Given the description of an element on the screen output the (x, y) to click on. 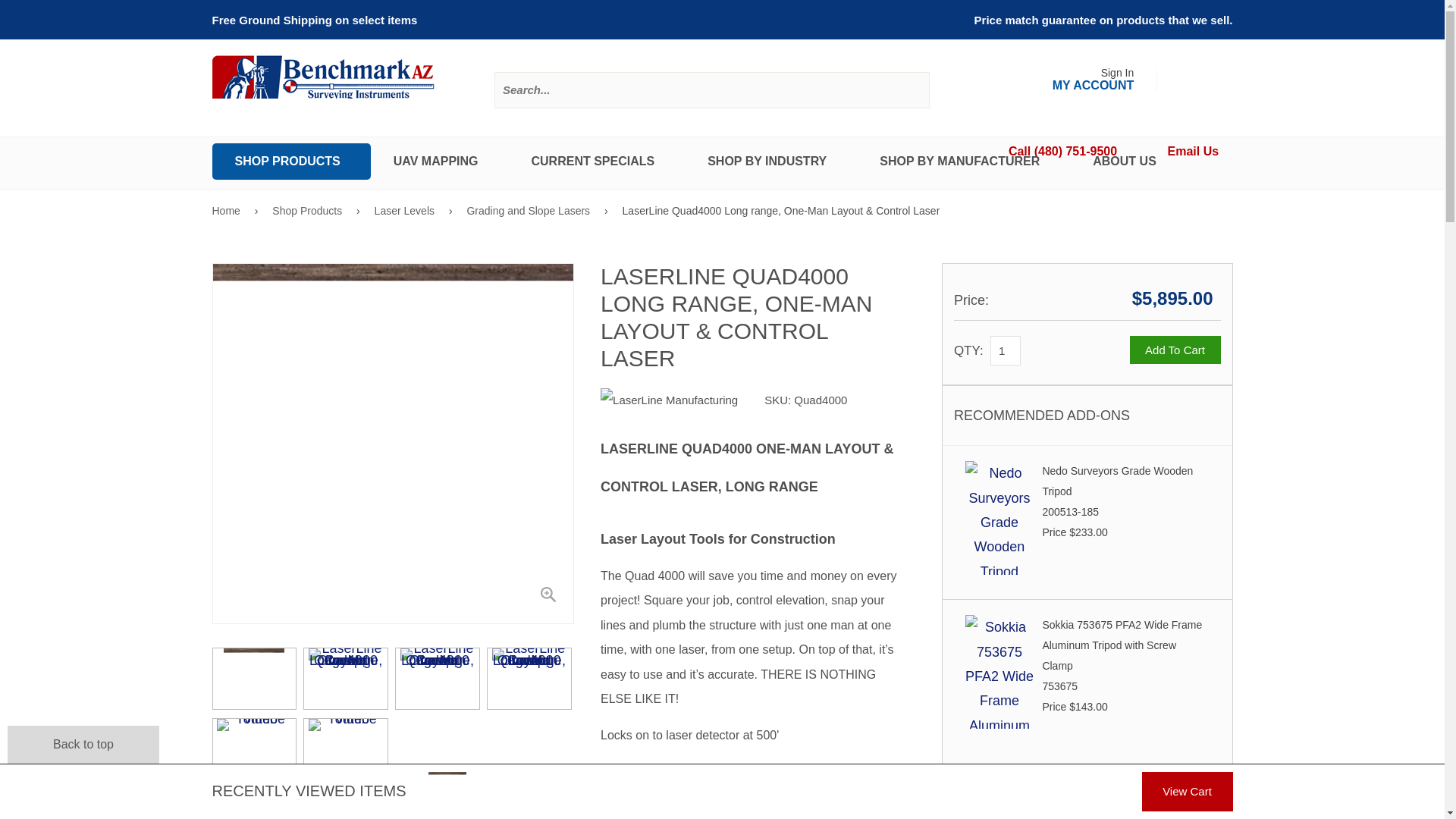
Youtube Video (254, 749)
1 (1005, 350)
CURRENT SPECIALS (596, 161)
SHOP BY INDUSTRY (770, 161)
Youtube Video (346, 749)
Benchmark Online LLC (323, 84)
Search (910, 90)
UAV MAPPING (439, 161)
Add to Cart (1175, 349)
Search (910, 90)
